Given the description of an element on the screen output the (x, y) to click on. 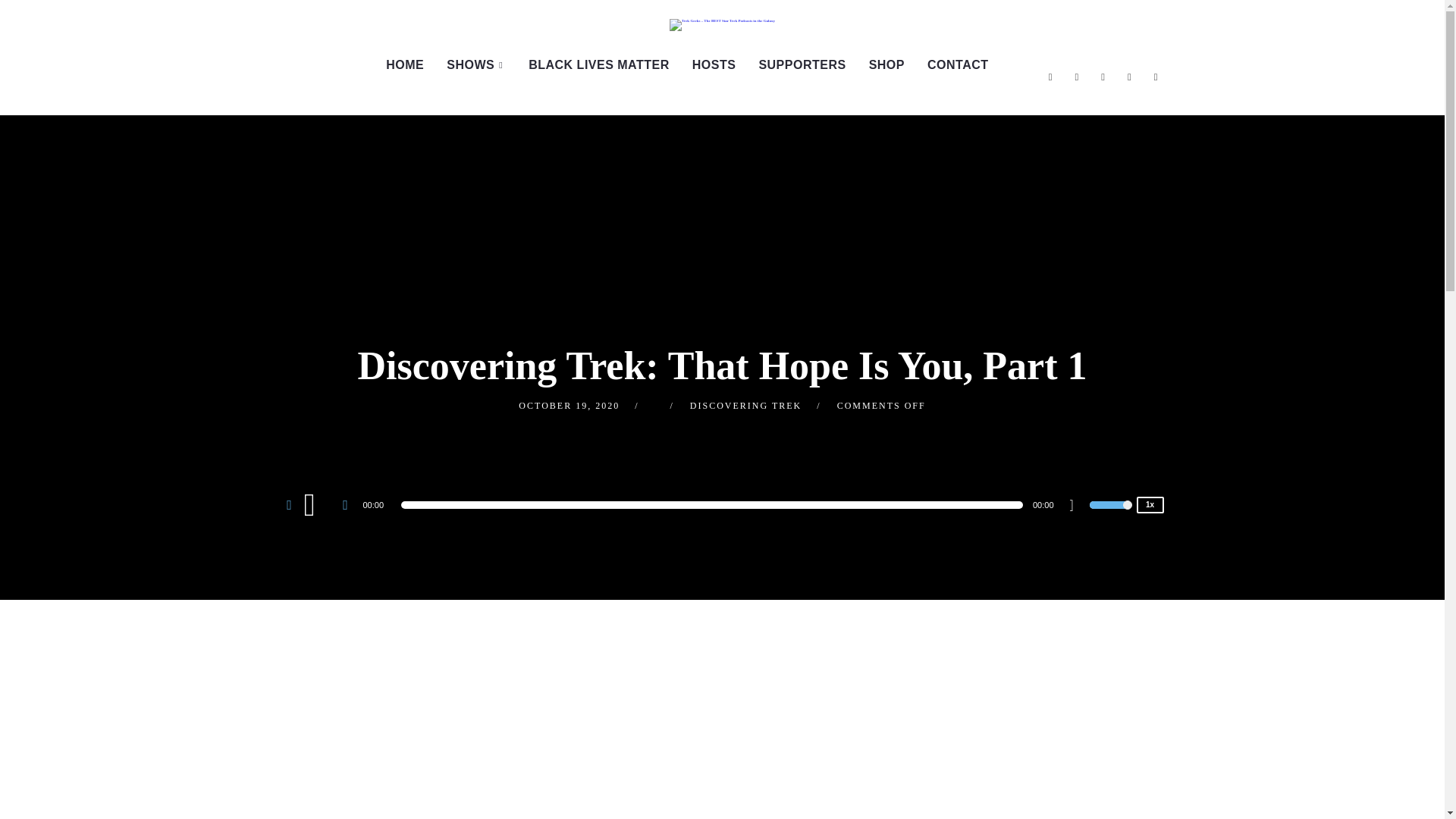
BLACK LIVES MATTER (598, 64)
SHOWS (475, 64)
HOME (404, 64)
SUPPORTERS (801, 64)
CONTACT (957, 64)
SHOP (886, 64)
Mute (1076, 507)
HOSTS (714, 64)
Play (317, 503)
